Given the description of an element on the screen output the (x, y) to click on. 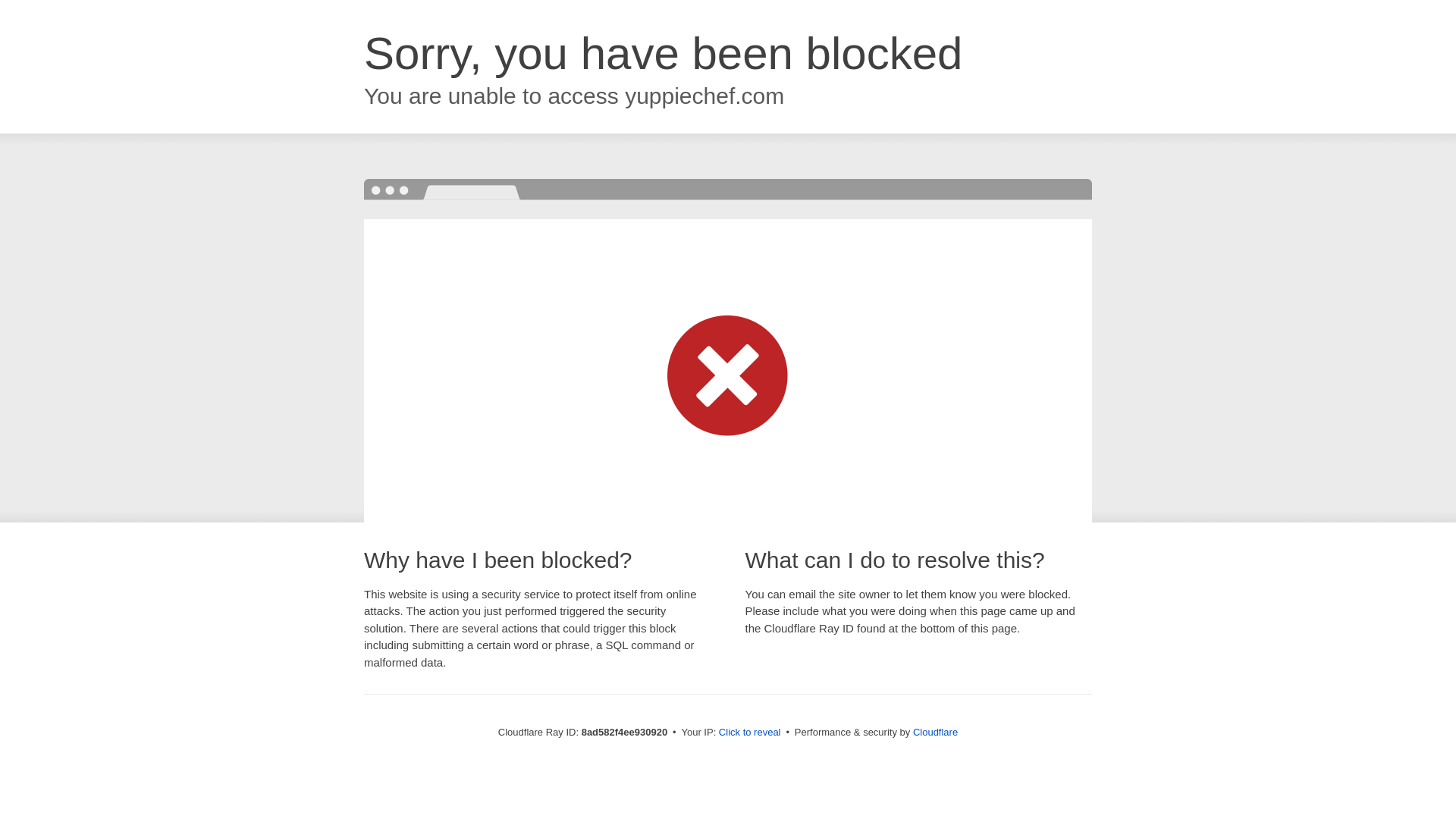
Click to reveal (749, 732)
Cloudflare (935, 731)
